Given the description of an element on the screen output the (x, y) to click on. 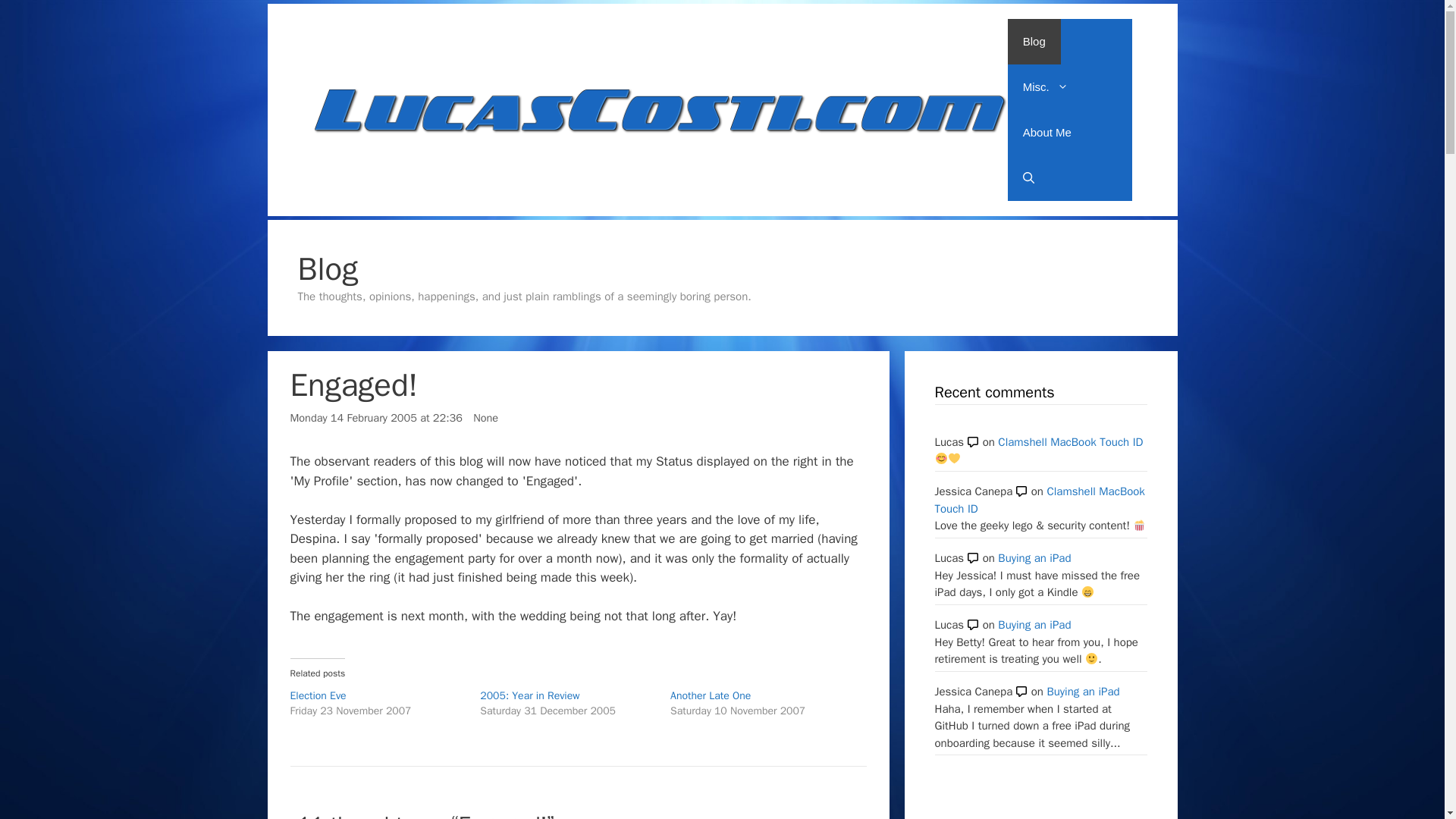
Another Late One (710, 695)
2005: Year in Review (529, 695)
22:36 (375, 418)
Election Eve (317, 695)
Another Late One (710, 695)
Election Eve (317, 695)
About Me (1046, 132)
2005: Year in Review (529, 695)
Monday 14 February 2005 at 22:36 (375, 418)
Misc. (1045, 86)
